Given the description of an element on the screen output the (x, y) to click on. 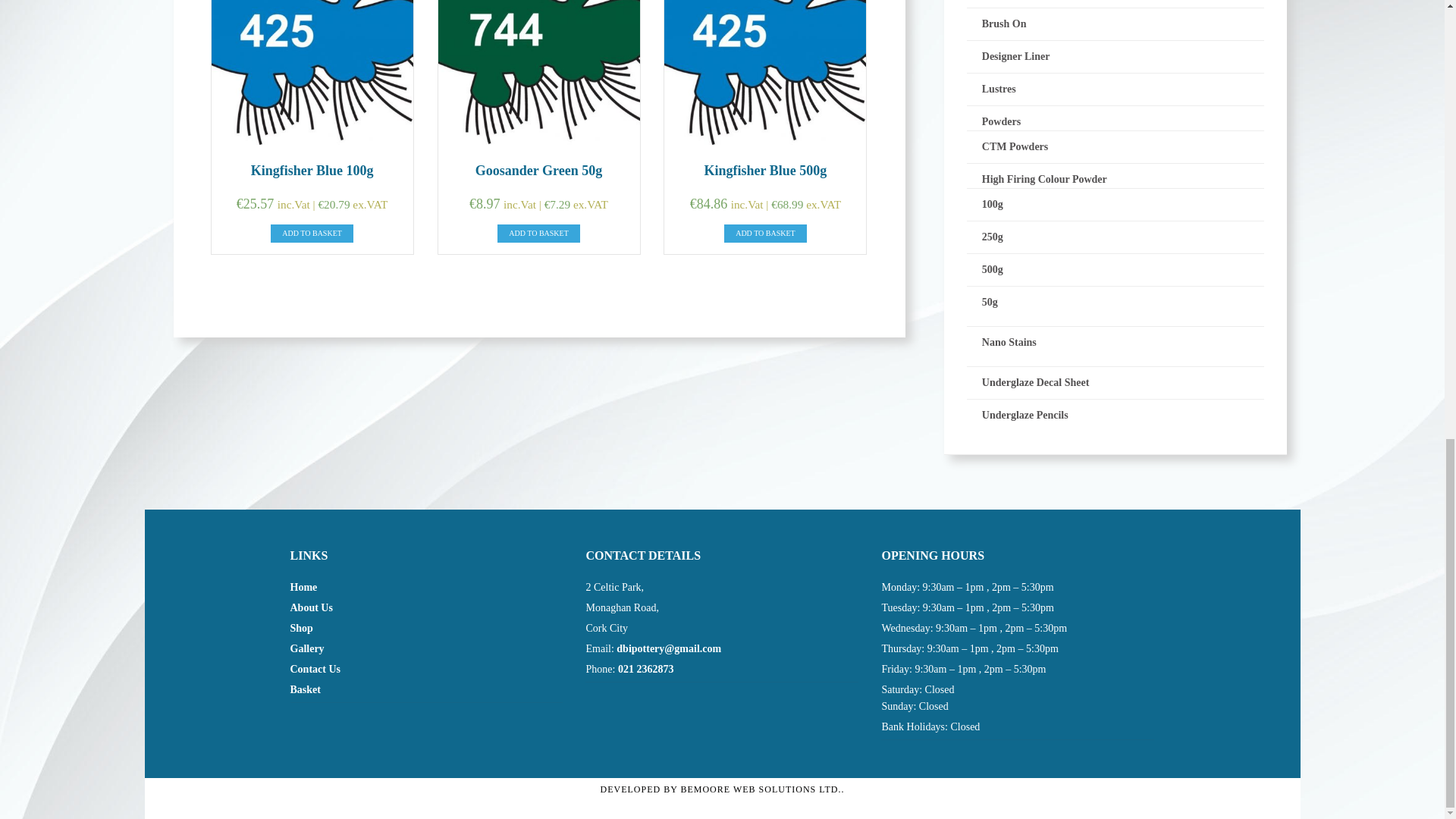
ADD TO BASKET (764, 232)
ADD TO BASKET (538, 232)
ADD TO BASKET (311, 232)
